Given the description of an element on the screen output the (x, y) to click on. 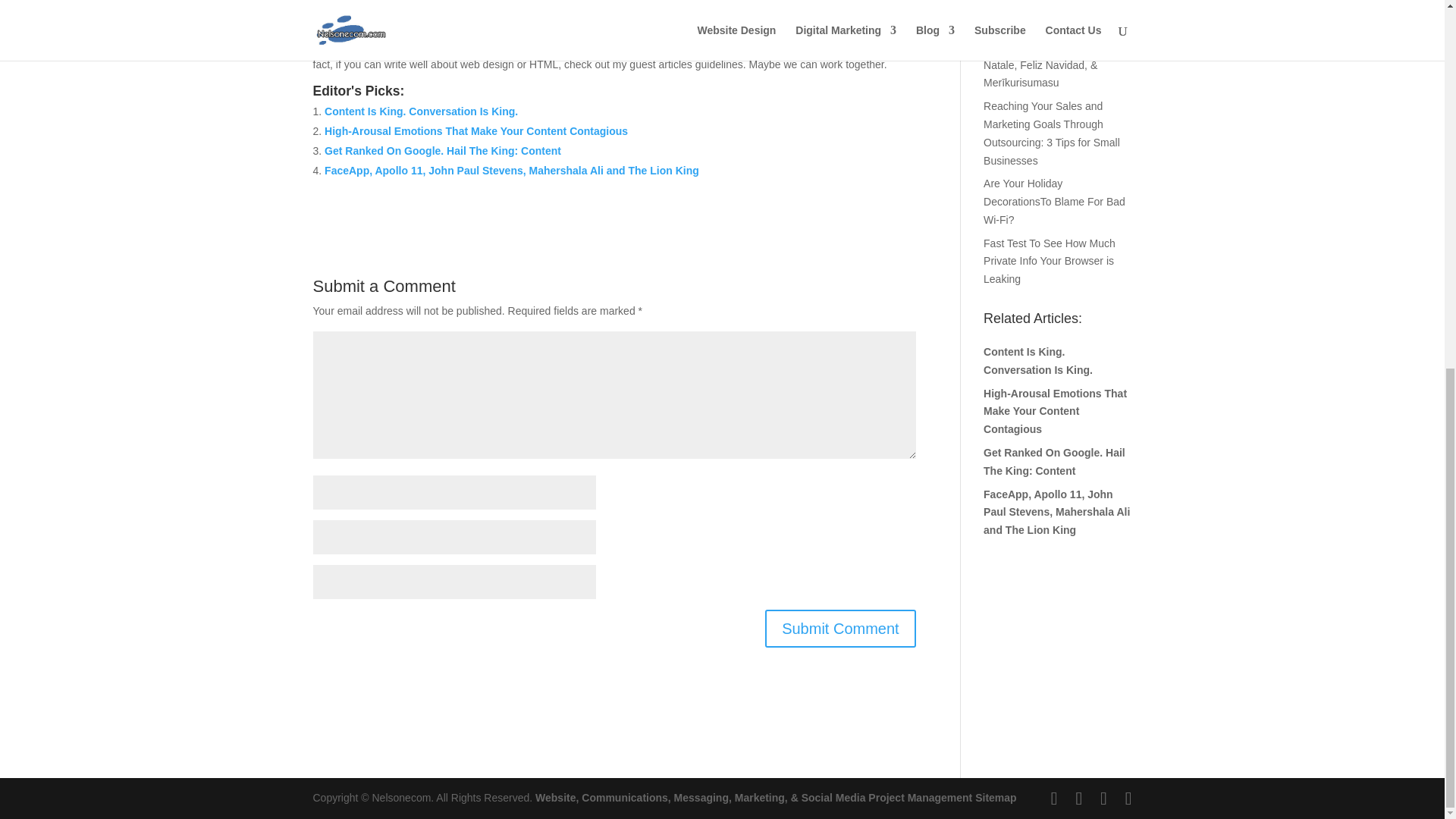
Get Ranked On Google. Hail The King: Content (442, 150)
High-Arousal Emotions That Make Your Content Contagious (475, 131)
Content Is King. Conversation Is King. (421, 111)
Submit Comment (840, 628)
